Given the description of an element on the screen output the (x, y) to click on. 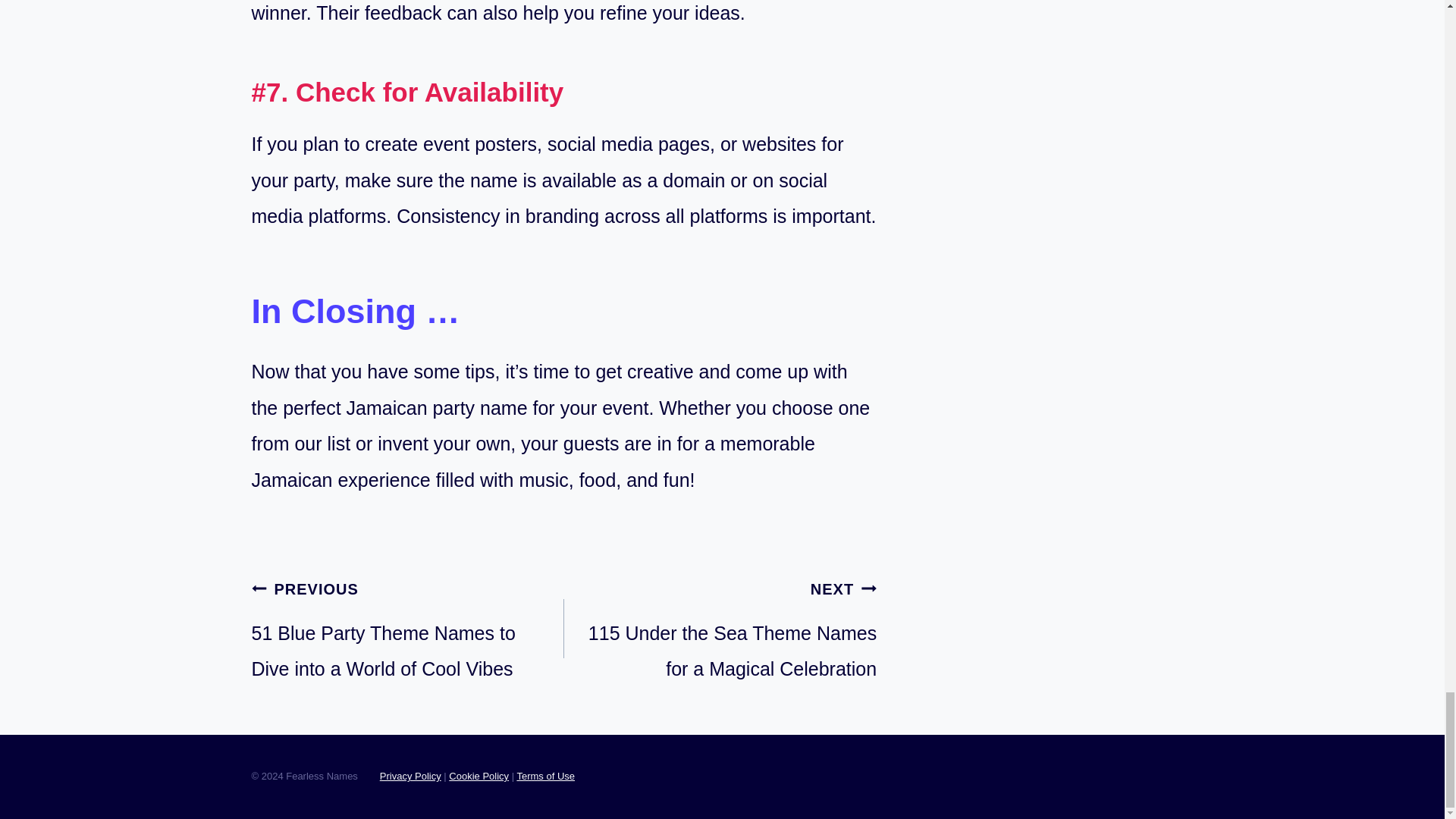
Cookie Policy (478, 776)
Terms of Use (545, 776)
Privacy Policy (720, 628)
